Given the description of an element on the screen output the (x, y) to click on. 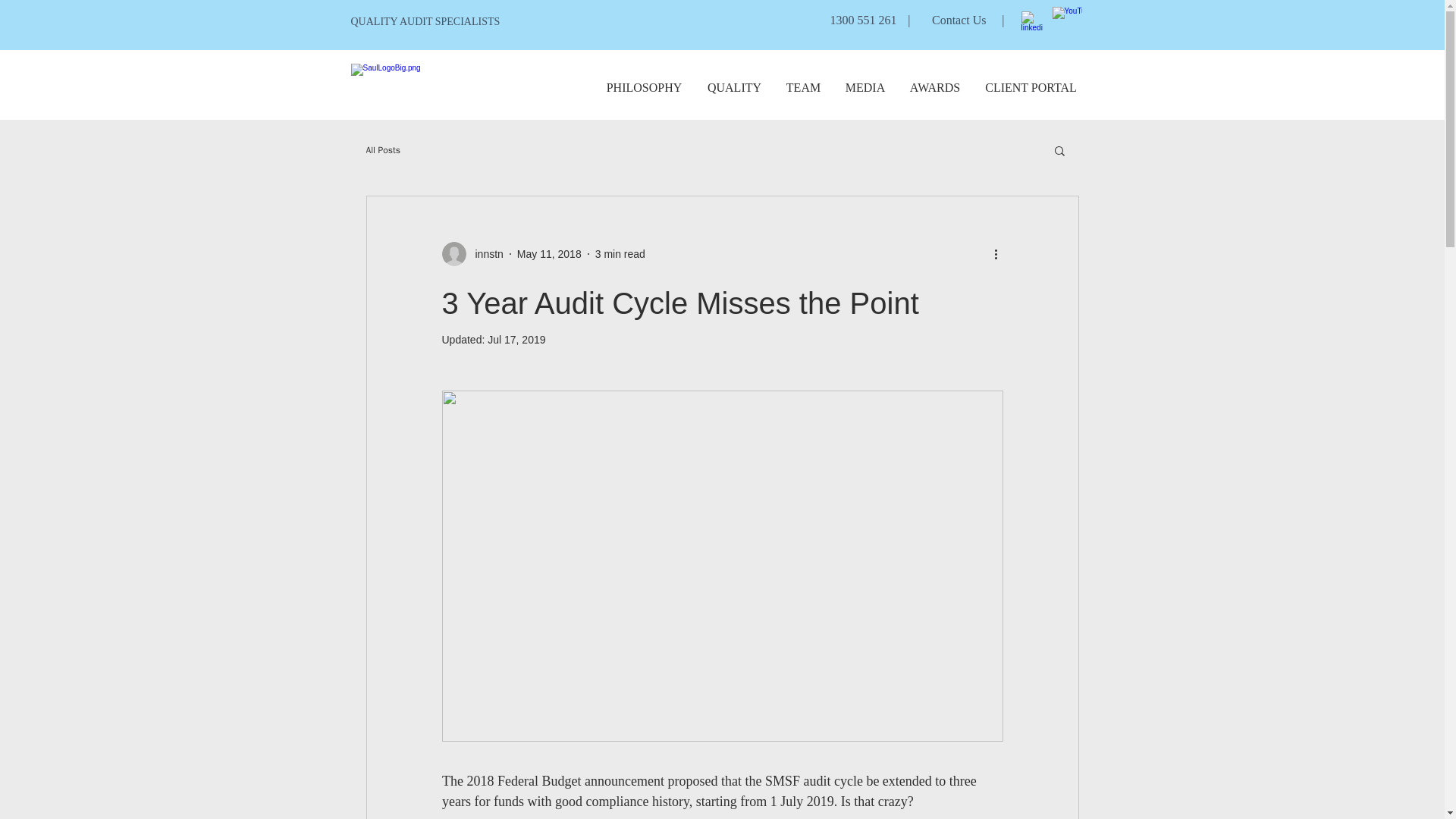
innstn (483, 253)
QUALITY (733, 87)
1300 551 261 (862, 19)
TEAM (802, 87)
CLIENT PORTAL (1030, 87)
All Posts (382, 150)
innstn (471, 253)
MEDIA (864, 87)
Contact Us (959, 19)
May 11, 2018 (548, 253)
